Given the description of an element on the screen output the (x, y) to click on. 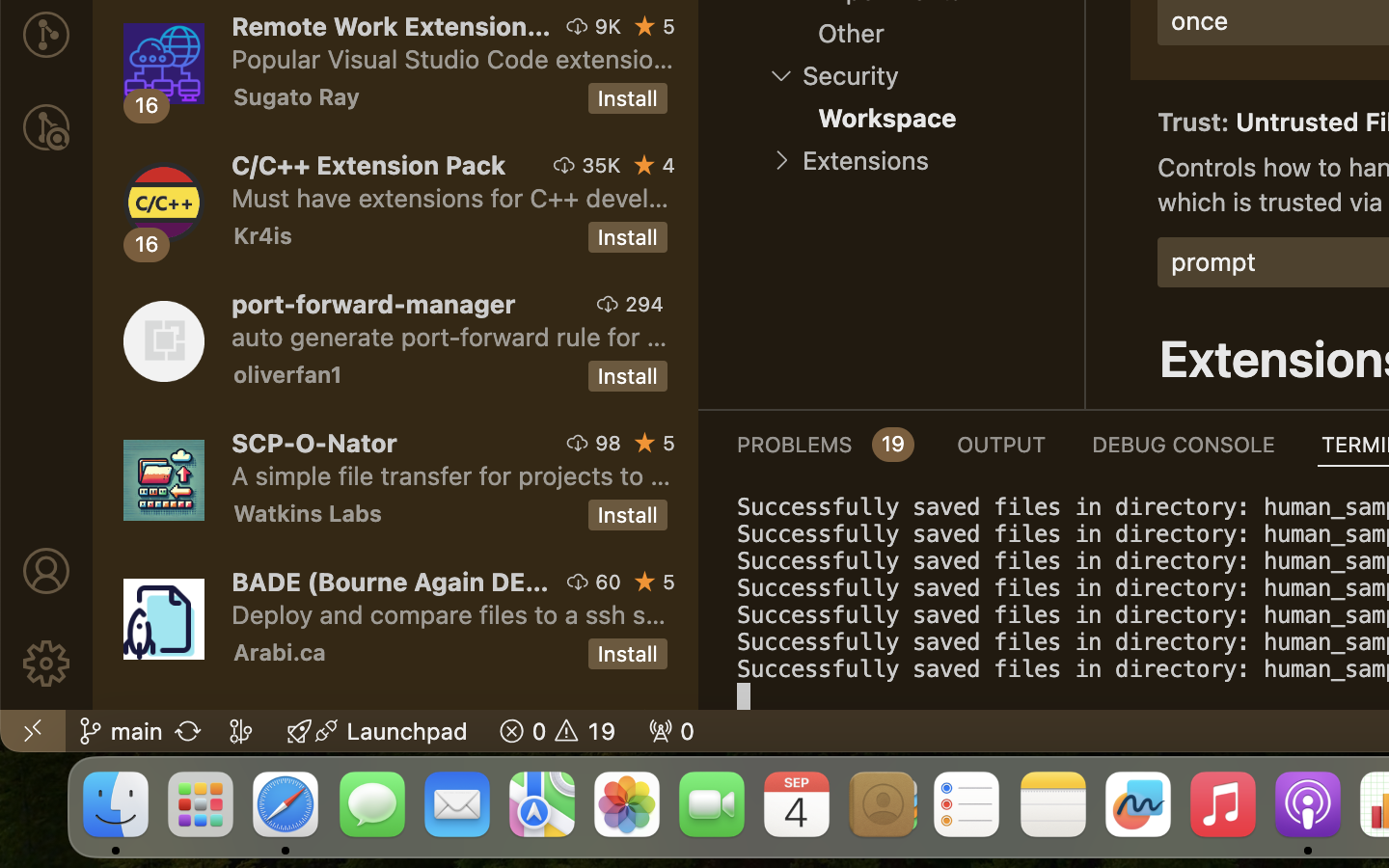
 Element type: AXStaticText (644, 581)
294 Element type: AXStaticText (644, 303)
0 DEBUG CONSOLE Element type: AXRadioButton (1183, 443)
Other Element type: AXStaticText (851, 33)
auto generate port-forward rule for your vscode ssh connection. Element type: AXStaticText (449, 336)
